Given the description of an element on the screen output the (x, y) to click on. 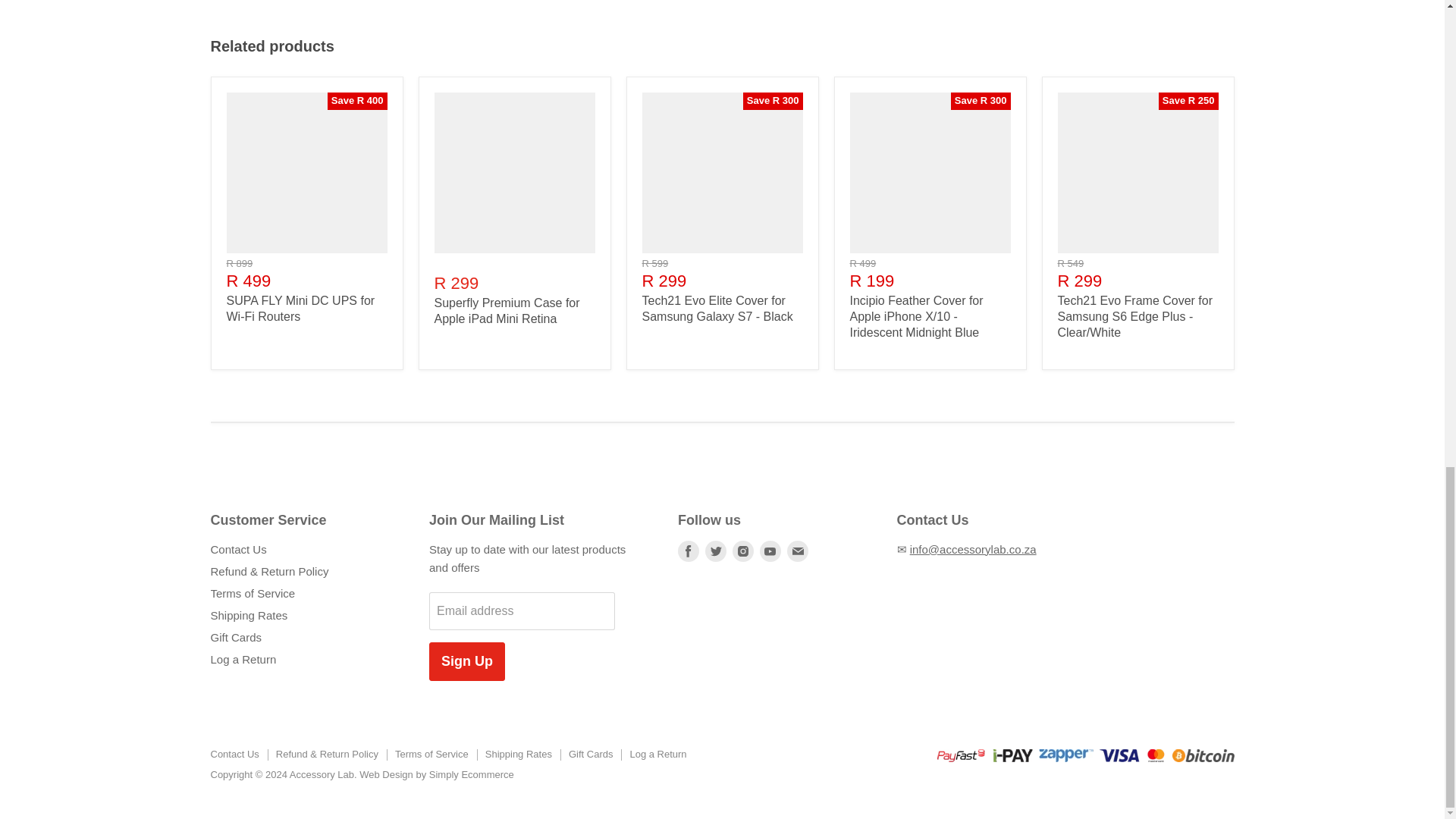
Instagram (743, 551)
Payment icons (1085, 757)
E-mail (797, 551)
Twitter (715, 551)
Youtube (770, 551)
Facebook (688, 551)
Web Design by Simply Ecommerce (436, 774)
